Given the description of an element on the screen output the (x, y) to click on. 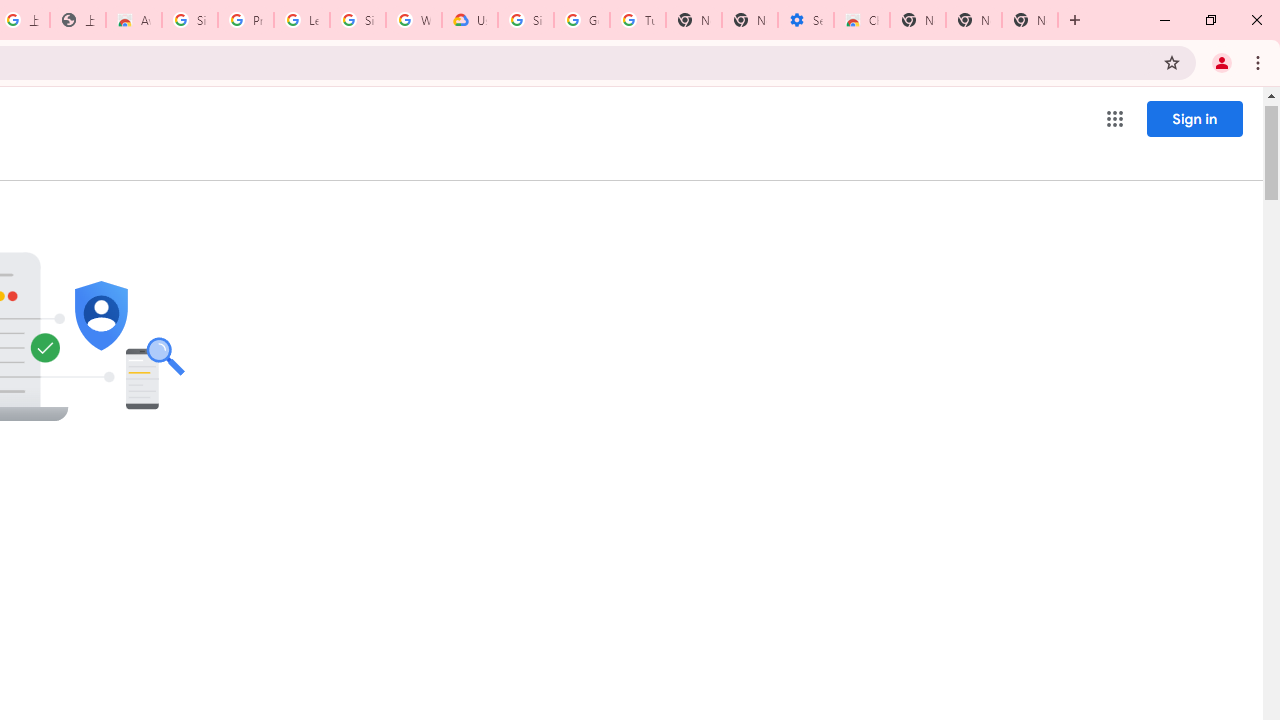
Google Account Help (582, 20)
Sign in - Google Accounts (525, 20)
Sign in - Google Accounts (189, 20)
New Tab (917, 20)
Settings - Accessibility (806, 20)
Sign in - Google Accounts (358, 20)
New Tab (1030, 20)
